Given the description of an element on the screen output the (x, y) to click on. 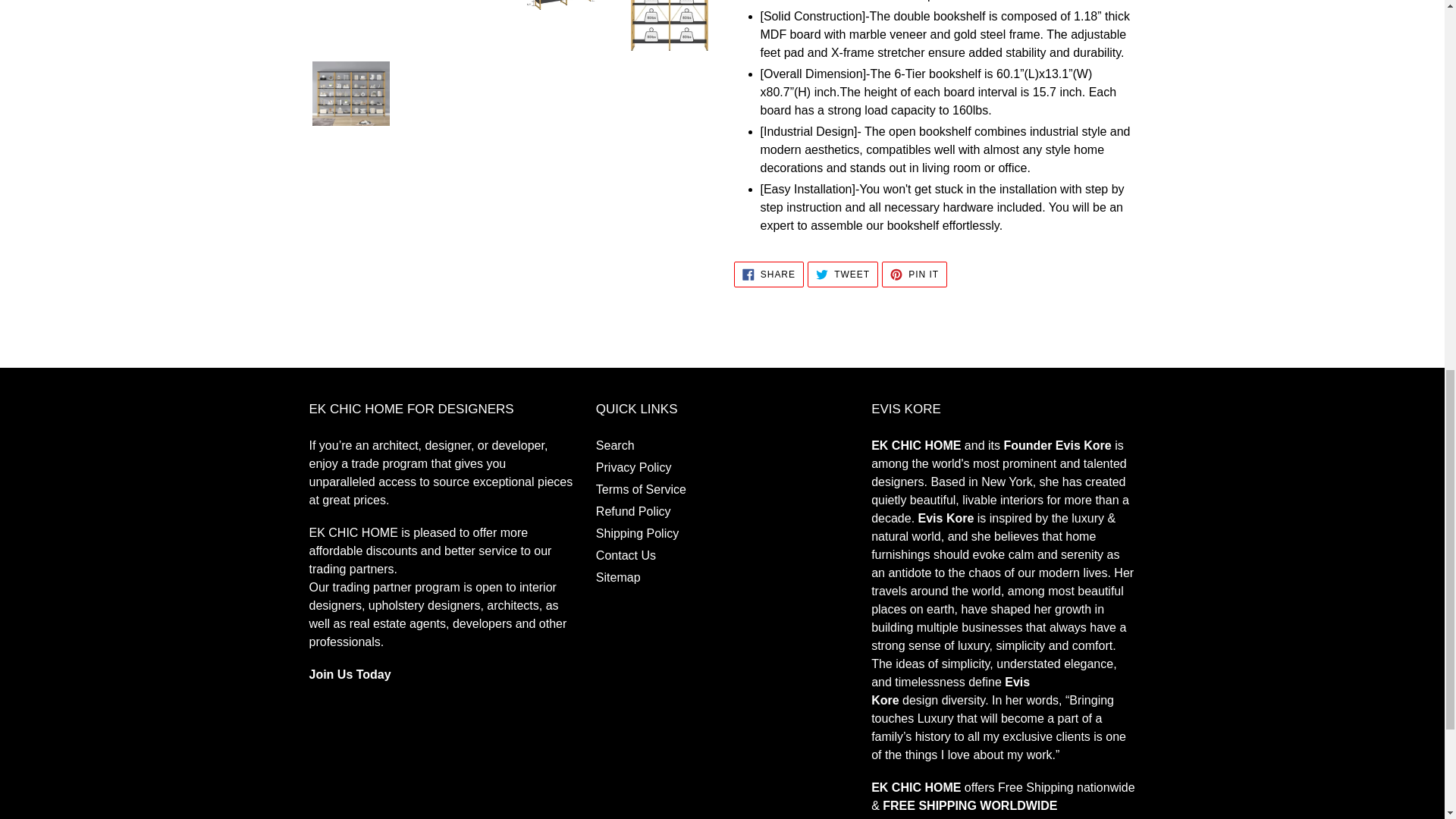
FREE SHIPPING WORLDWIDE (963, 809)
EK CHIC HOMEPAGE (915, 787)
EK CHIC HOME LUXURY (915, 445)
B2B WHOLESALE (349, 674)
